Given the description of an element on the screen output the (x, y) to click on. 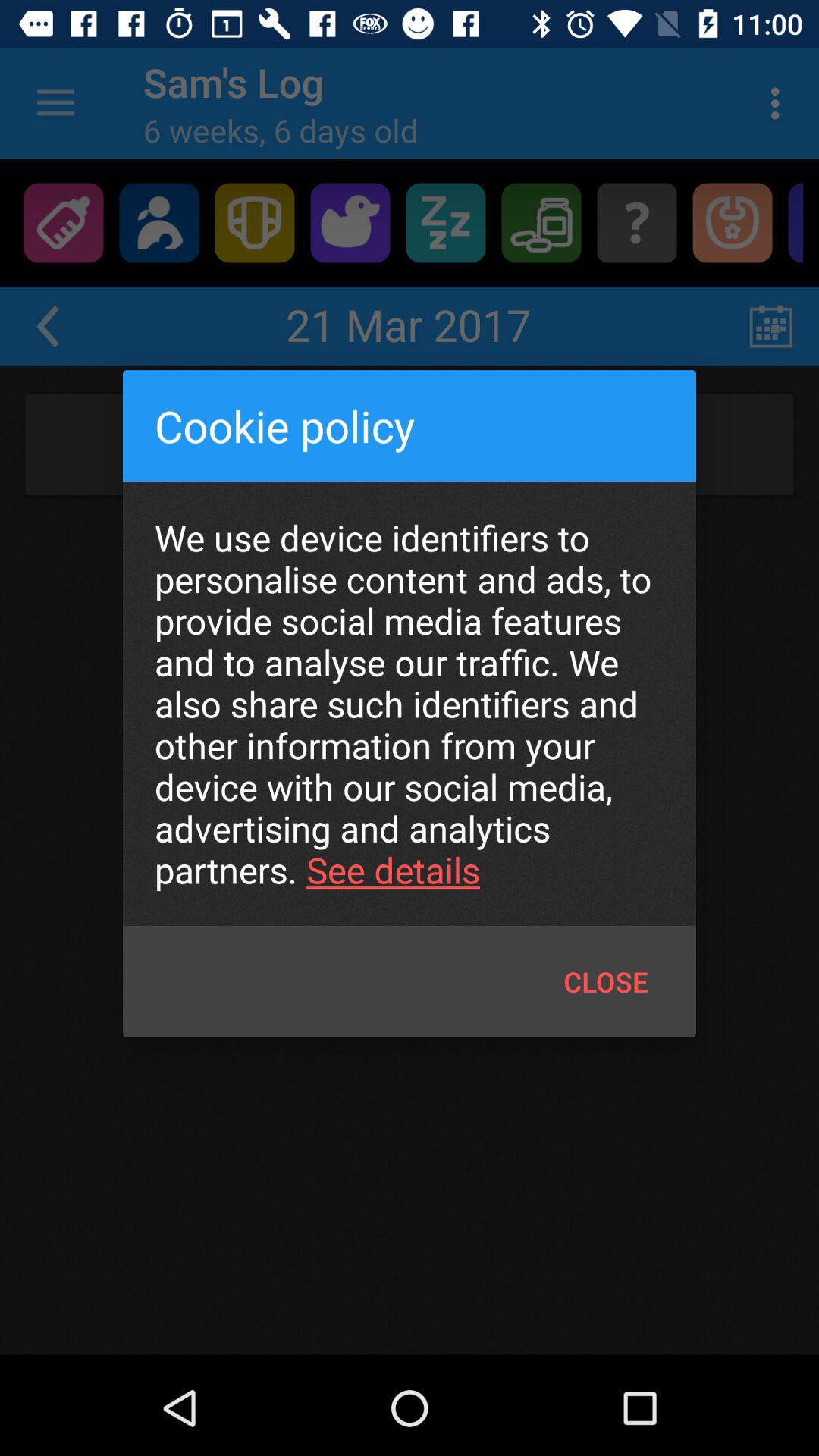
jump until close item (605, 981)
